Given the description of an element on the screen output the (x, y) to click on. 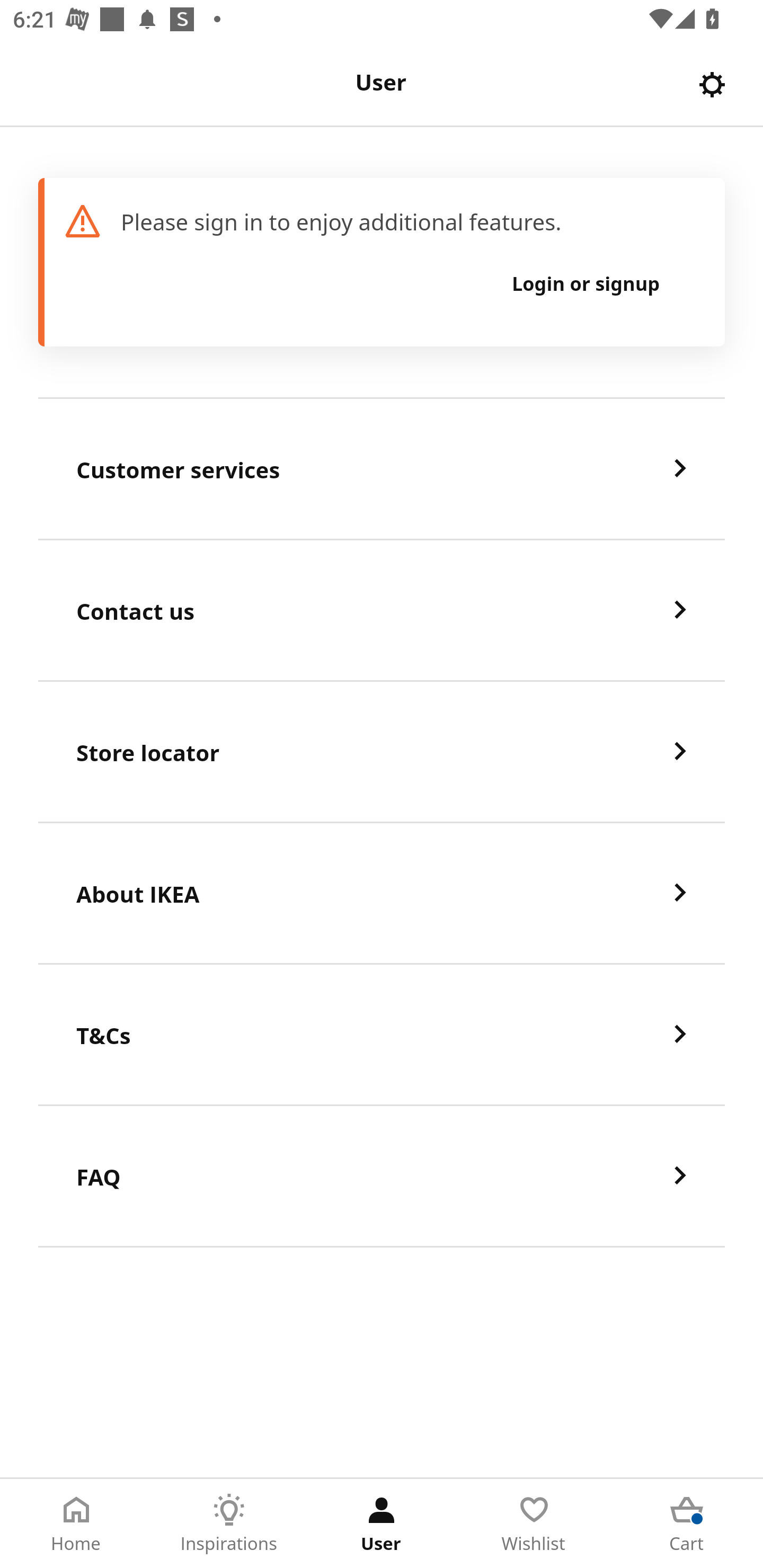
Login or signup (586, 282)
Customer services (381, 469)
Contact us (381, 611)
Store locator (381, 752)
About IKEA (381, 893)
T&Cs (381, 1034)
FAQ (381, 1176)
Home
Tab 1 of 5 (76, 1522)
Inspirations
Tab 2 of 5 (228, 1522)
User
Tab 3 of 5 (381, 1522)
Wishlist
Tab 4 of 5 (533, 1522)
Cart
Tab 5 of 5 (686, 1522)
